Given the description of an element on the screen output the (x, y) to click on. 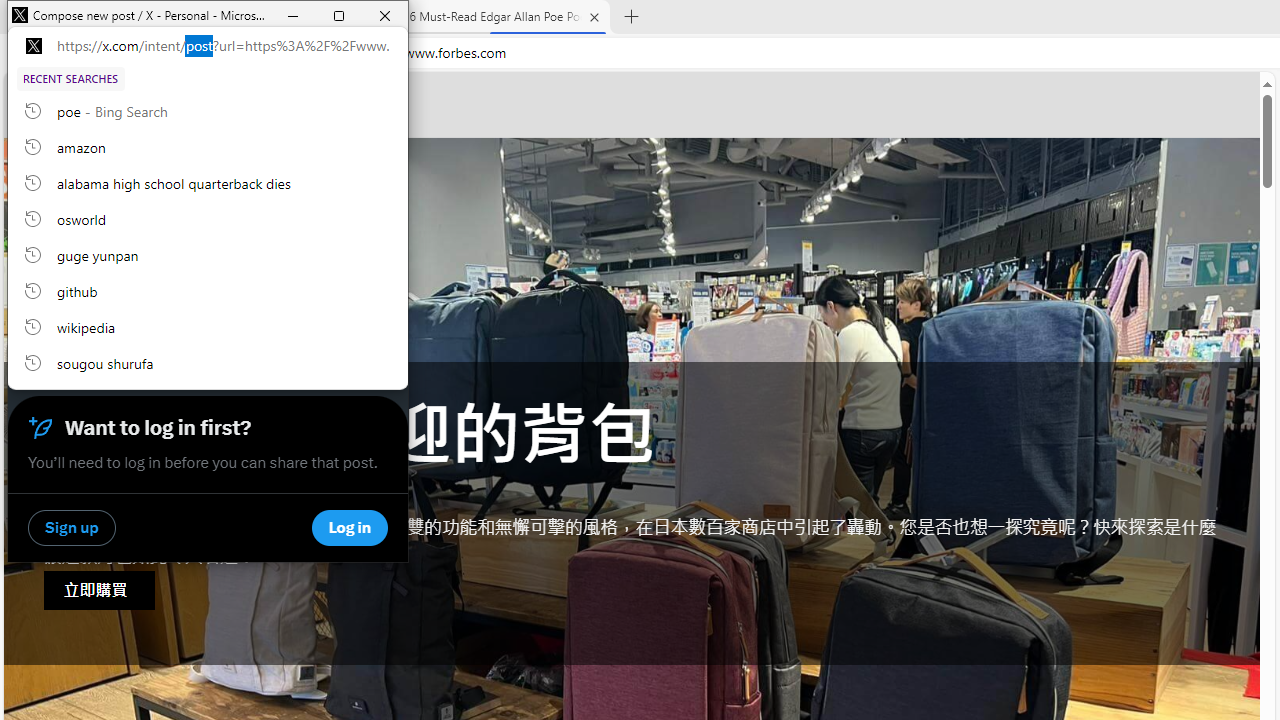
Class: Bz112c Bz112c-r9oPif (356, 112)
poe, recent searches from history (207, 110)
wikipedia, recent searches from history (207, 326)
osworld, recent searches from history (207, 218)
amazon, recent searches from history (207, 146)
Maximize (339, 15)
github, recent searches from history (207, 290)
guge yunpan, recent searches from history (207, 254)
sougou shurufa, recent searches from history (207, 362)
